Given the description of an element on the screen output the (x, y) to click on. 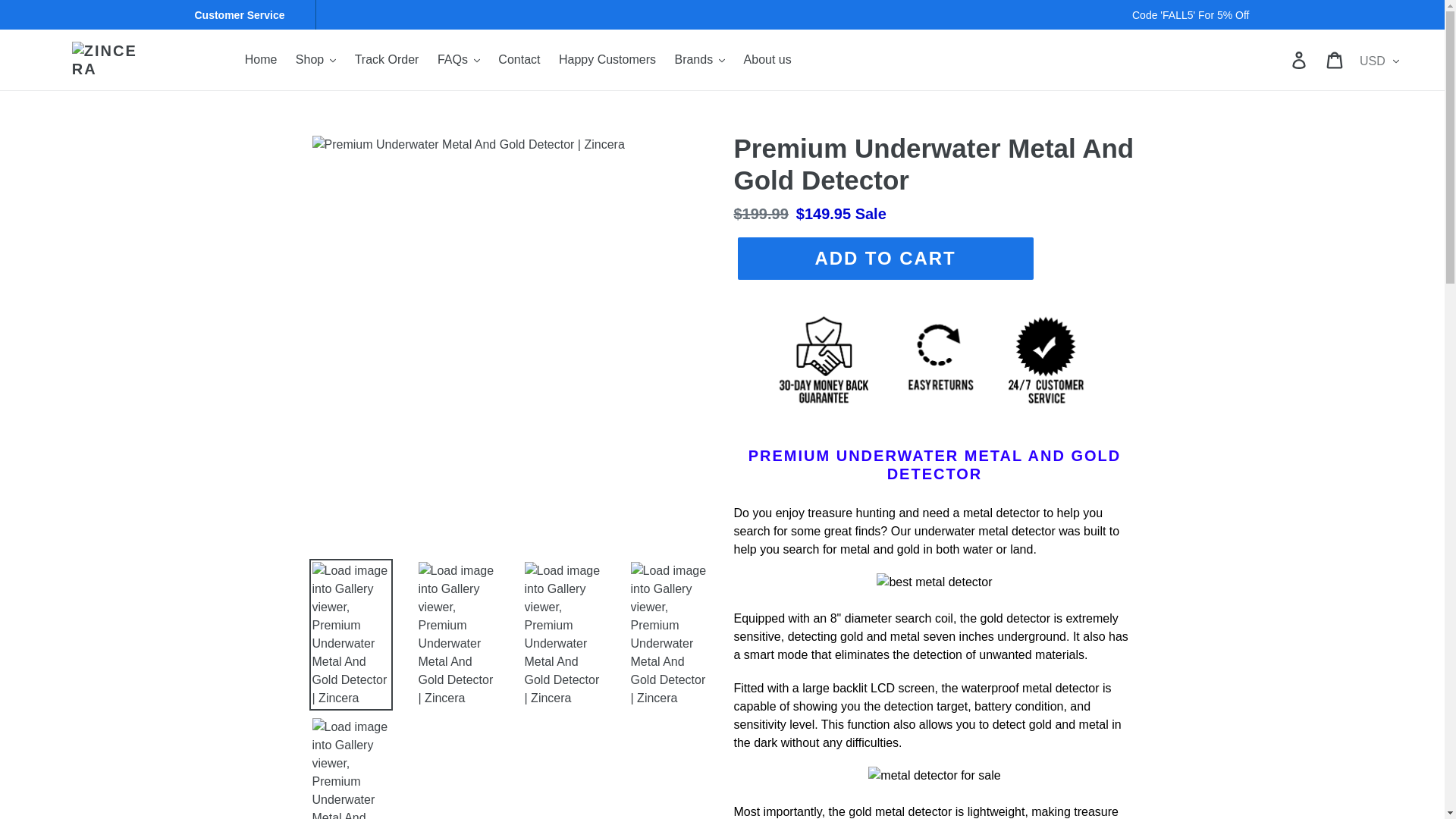
Track Order (386, 59)
Contact (518, 59)
Happy Customers (607, 59)
Zincera is secured by Shopify (934, 418)
Home (261, 59)
Customer Service (245, 15)
